Given the description of an element on the screen output the (x, y) to click on. 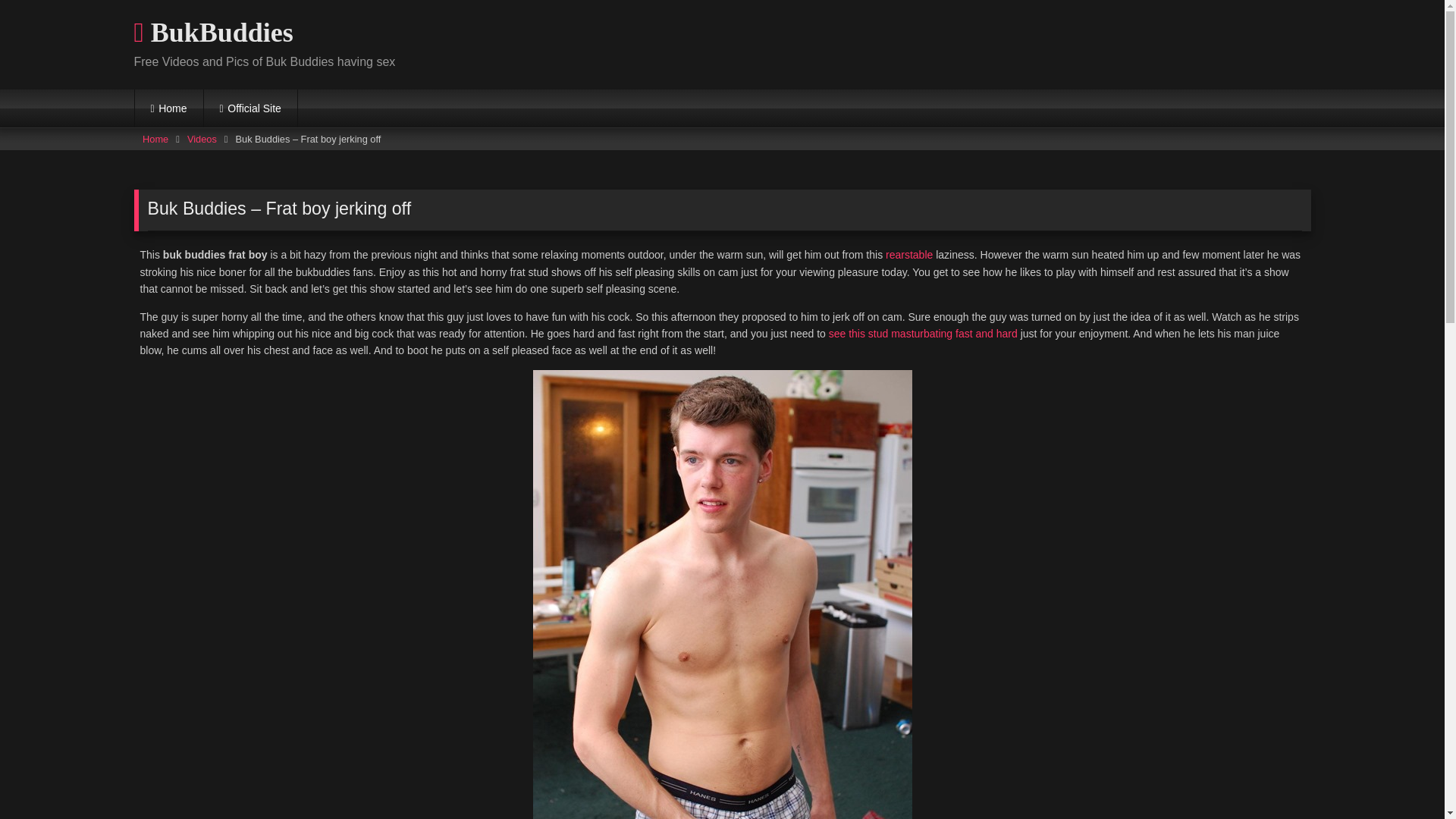
rearstable (909, 254)
Home (155, 138)
Home (169, 108)
Official Site (250, 108)
Videos (201, 138)
see this stud masturbating fast and hard (922, 333)
BukBuddies (212, 32)
